Given the description of an element on the screen output the (x, y) to click on. 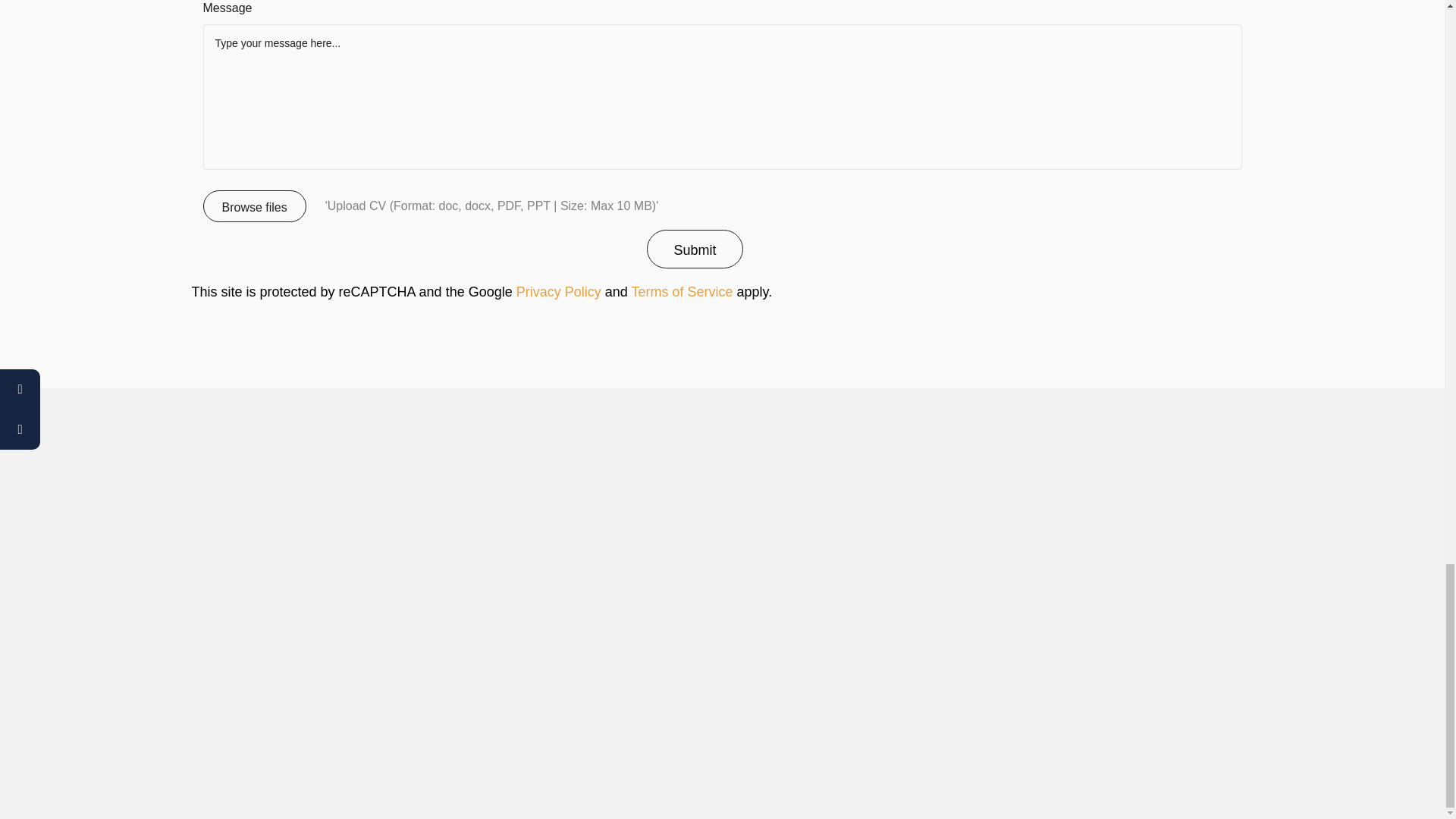
Submit (694, 249)
